Given the description of an element on the screen output the (x, y) to click on. 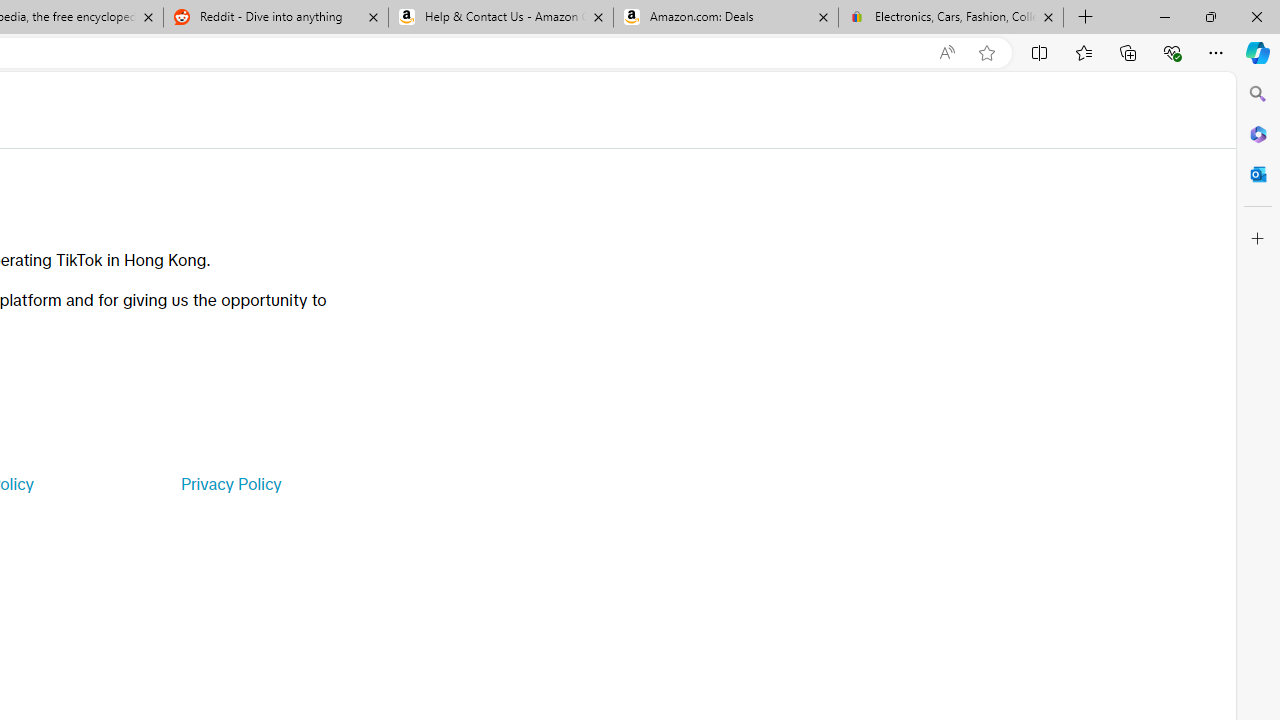
Microsoft 365 (1258, 133)
Browser essentials (1171, 52)
Electronics, Cars, Fashion, Collectibles & More | eBay (950, 17)
Close (1256, 16)
Collections (1128, 52)
Close Outlook pane (1258, 174)
Reddit - Dive into anything (275, 17)
Amazon.com: Deals (726, 17)
Search (1258, 94)
Read aloud this page (Ctrl+Shift+U) (946, 53)
New Tab (1085, 17)
Copilot (Ctrl+Shift+.) (1258, 52)
Favorites (1083, 52)
Restore (1210, 16)
